Given the description of an element on the screen output the (x, y) to click on. 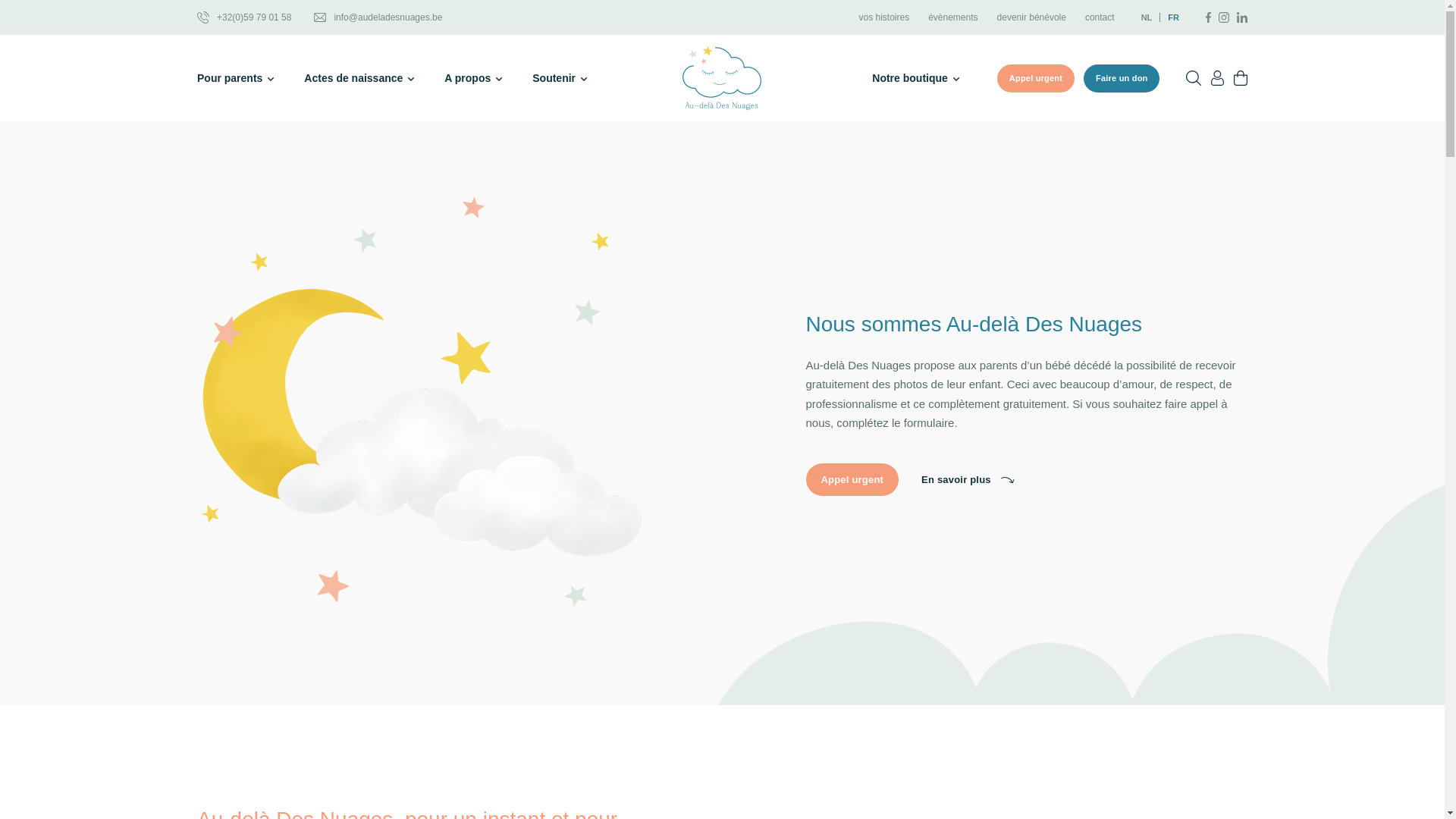
Faire un don Element type: text (1121, 78)
Accueil Element type: hover (721, 77)
contact Element type: text (1099, 16)
A propos Element type: text (473, 77)
En savoir plus Element type: text (968, 479)
Soutenir Element type: text (559, 77)
Mon panier Element type: hover (1240, 77)
NL Element type: text (1151, 16)
info@audeladesnuages.be Element type: text (377, 17)
Zoeken Element type: hover (1193, 77)
Pour parents Element type: text (235, 77)
Actes de naissance Element type: text (359, 77)
Appel urgent Element type: text (1035, 78)
Notre boutique Element type: text (915, 77)
Mon profil Element type: hover (1217, 77)
S'abonner Element type: text (228, 19)
+32(0)59 79 01 58 Element type: text (244, 17)
FR Element type: text (1169, 16)
vos histoires Element type: text (883, 16)
Appel urgent Element type: text (851, 479)
